Given the description of an element on the screen output the (x, y) to click on. 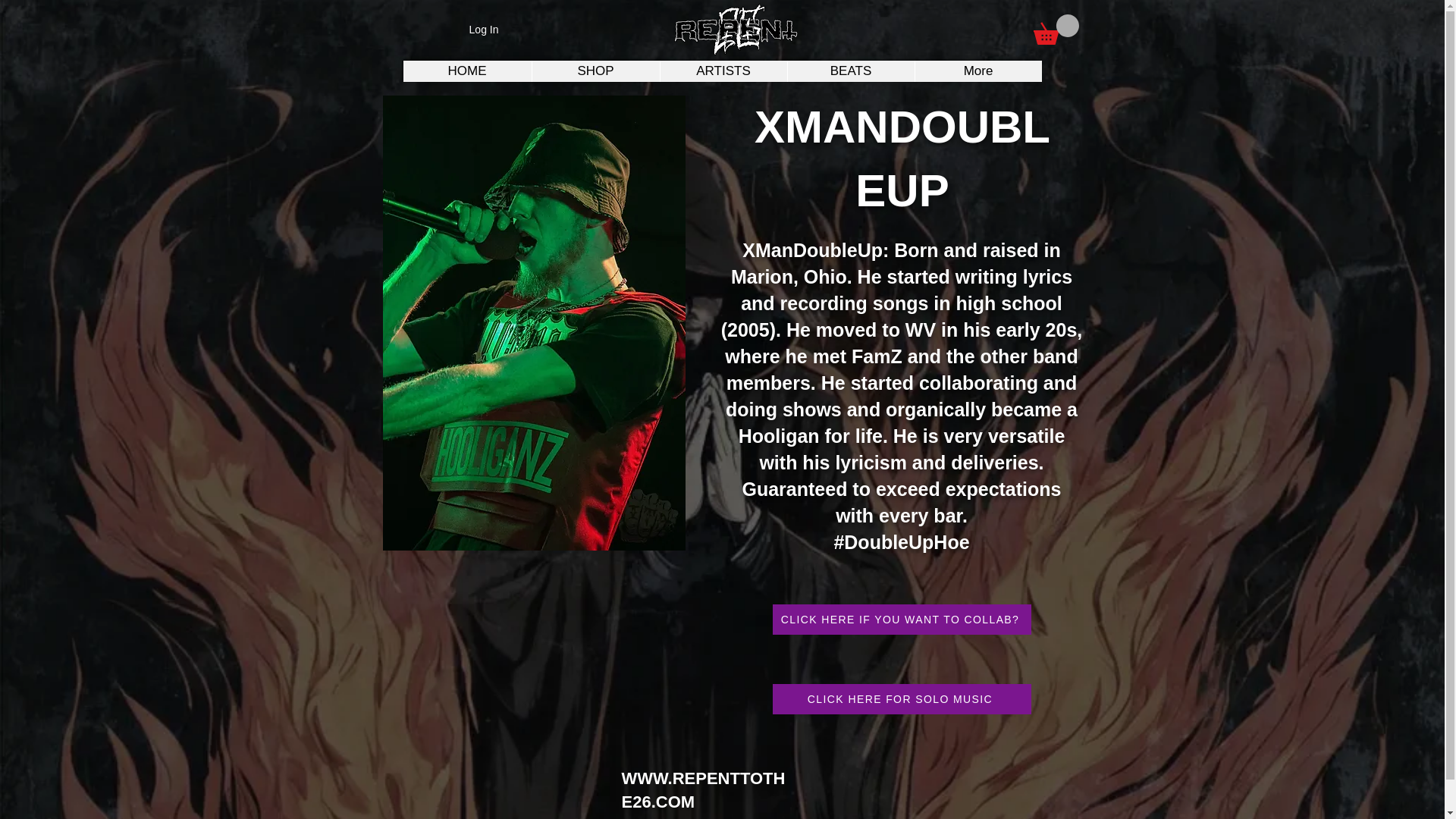
CLICK HERE IF YOU WANT TO COLLAB? (900, 619)
WWW.REPENTTOTHE26.COM (703, 790)
HOME (467, 70)
CLICK HERE FOR SOLO MUSIC (900, 698)
SHOP (595, 70)
Log In (483, 30)
ARTISTS (723, 70)
BEATS (850, 70)
